Given the description of an element on the screen output the (x, y) to click on. 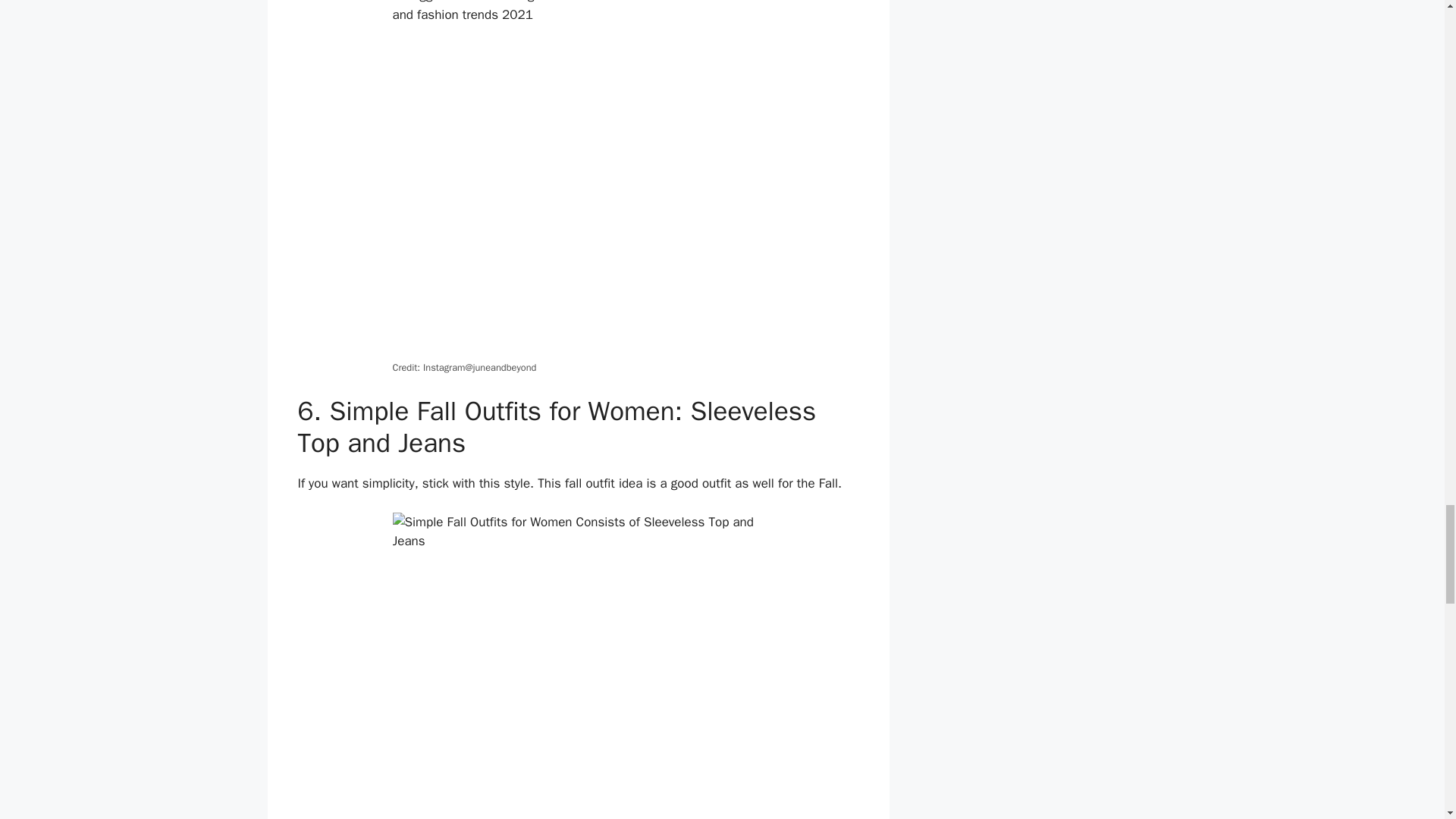
Simple Fall Outfits for Women: Sleeveless Top and Jeans (578, 665)
Rugged Look with Long sleeves and Jeans (578, 178)
